Given the description of an element on the screen output the (x, y) to click on. 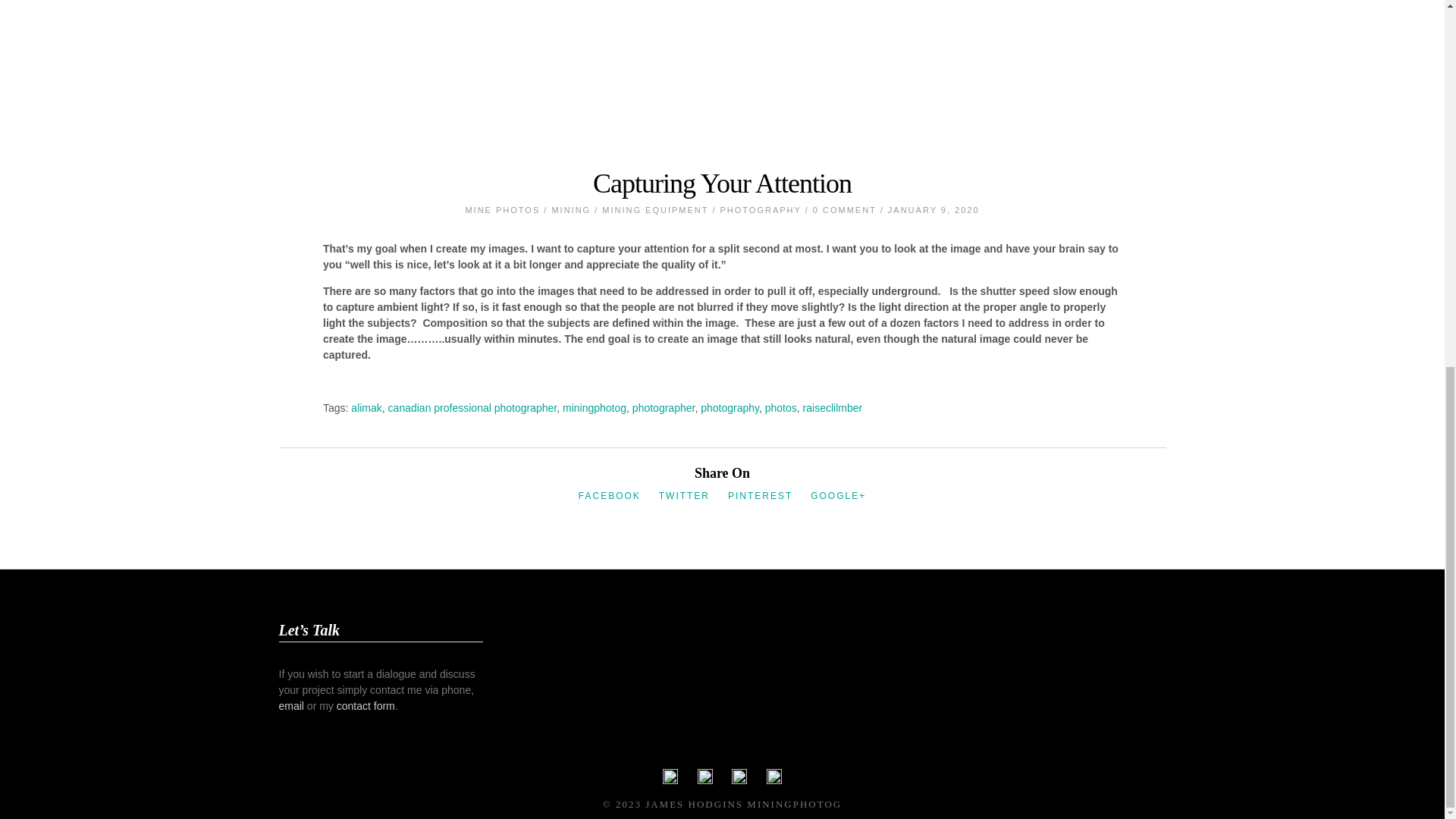
MINE PHOTOS (502, 209)
Capturing Your Attention (721, 183)
miningphotog (594, 407)
photos (780, 407)
MINING (571, 209)
canadian professional photographer (472, 407)
0 COMMENT (844, 209)
PHOTOGRAPHY (761, 209)
Capturing Your Attention (721, 183)
Linkedin (739, 779)
